Given the description of an element on the screen output the (x, y) to click on. 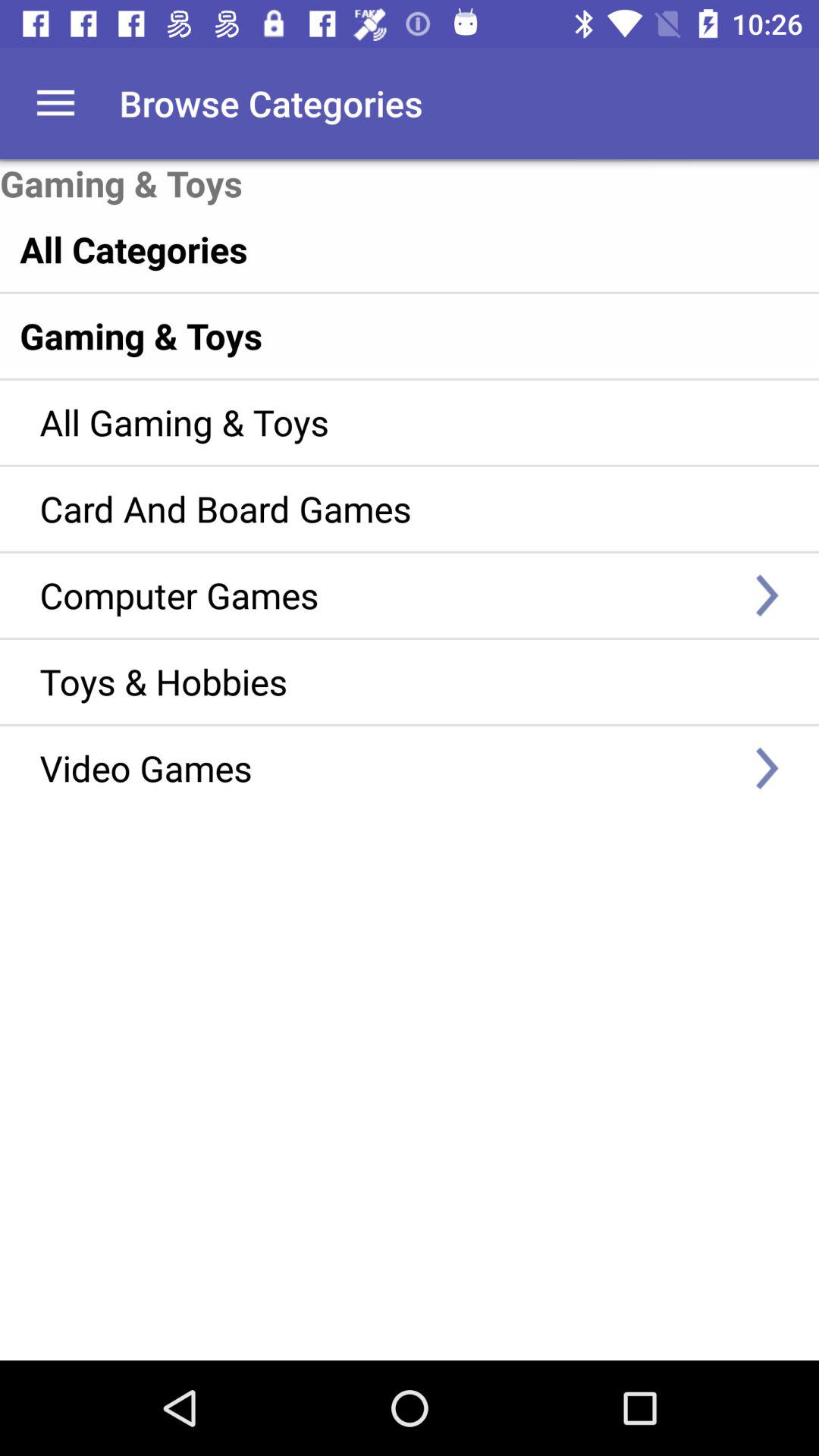
press the icon above the gaming & toys (377, 249)
